Given the description of an element on the screen output the (x, y) to click on. 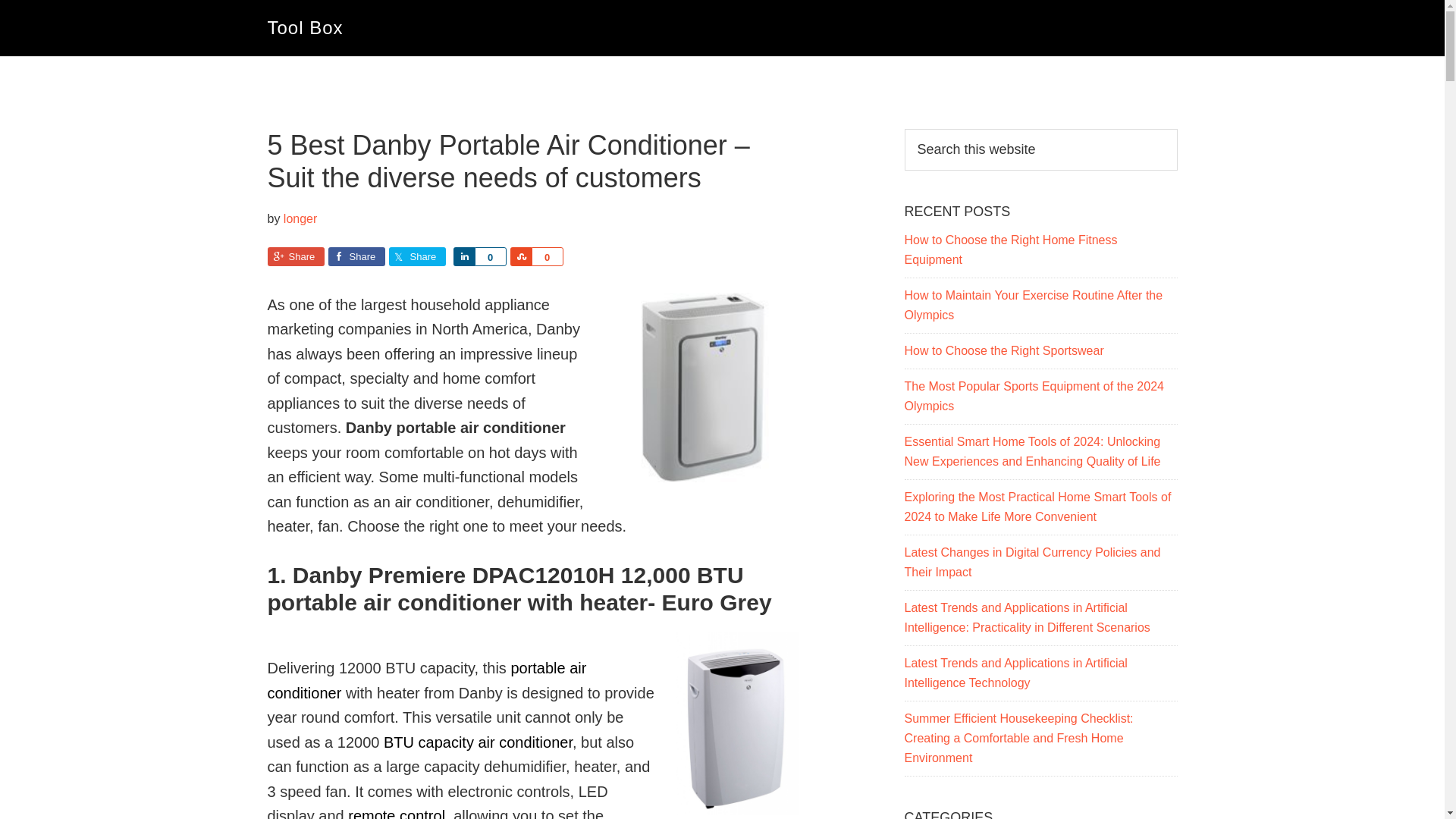
0 (546, 256)
0 (490, 256)
Danby Portable Air Conditioner (702, 387)
Share (416, 256)
remote control (396, 813)
Share (355, 256)
Share (520, 256)
